Given the description of an element on the screen output the (x, y) to click on. 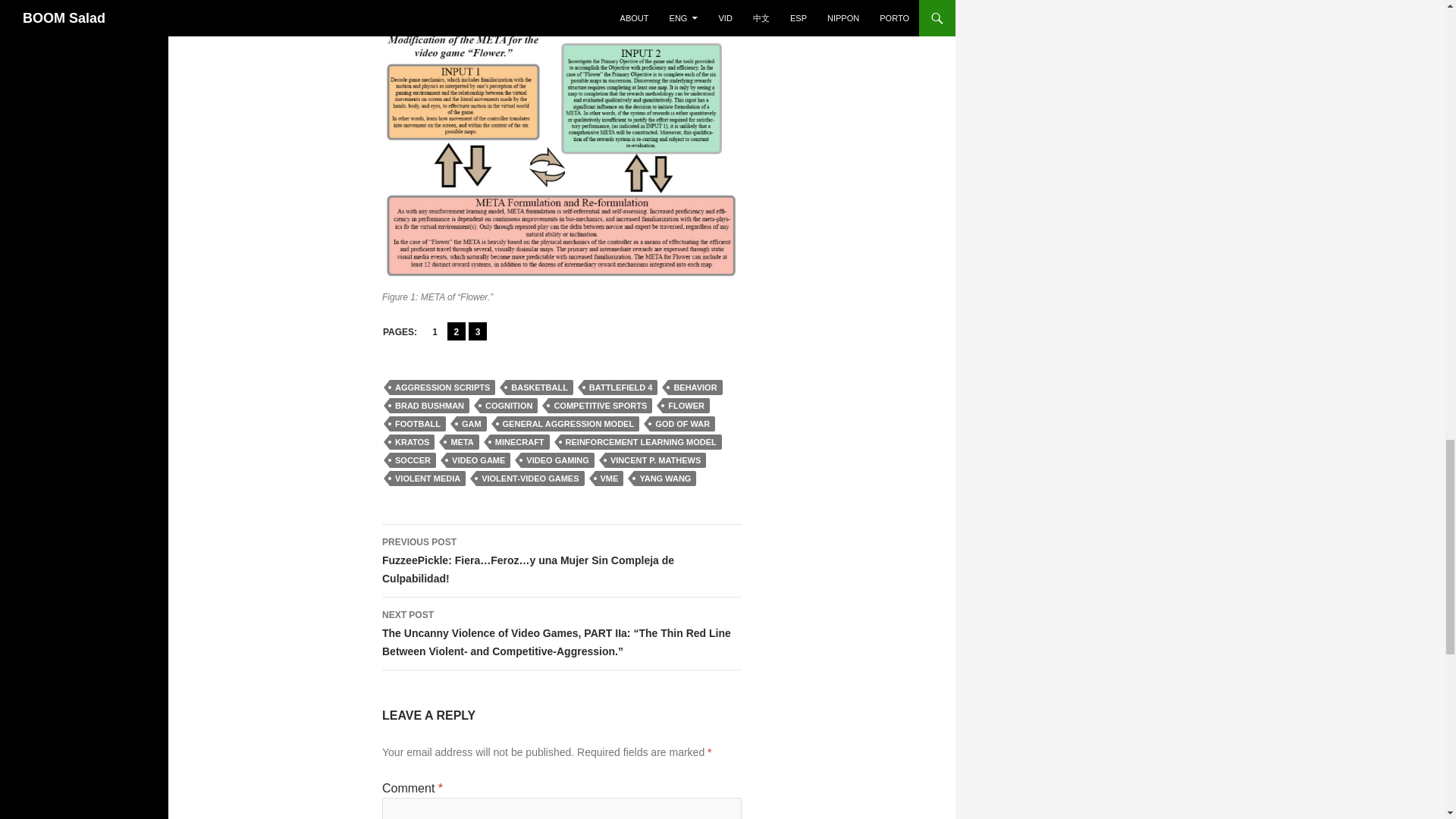
BRAD BUSHMAN (429, 405)
FOOTBALL (417, 423)
COMPETITIVE SPORTS (600, 405)
BASKETBALL (539, 387)
GOD OF WAR (681, 423)
2 (455, 331)
KRATOS (411, 441)
GAM (471, 423)
FLOWER (686, 405)
BATTLEFIELD 4 (620, 387)
GENERAL AGGRESSION MODEL (568, 423)
AGGRESSION SCRIPTS (442, 387)
COGNITION (508, 405)
3 (477, 331)
BEHAVIOR (695, 387)
